Given the description of an element on the screen output the (x, y) to click on. 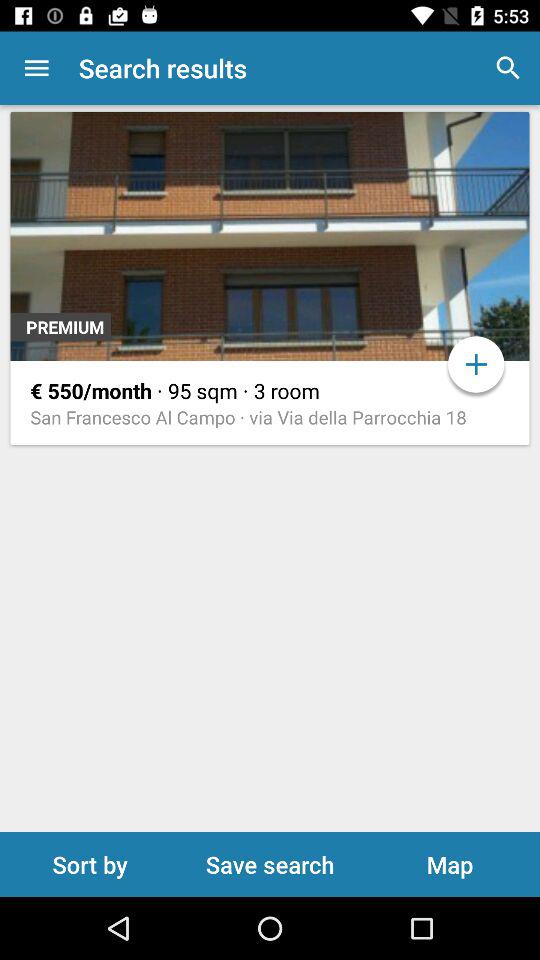
press icon at the top right corner (508, 67)
